Given the description of an element on the screen output the (x, y) to click on. 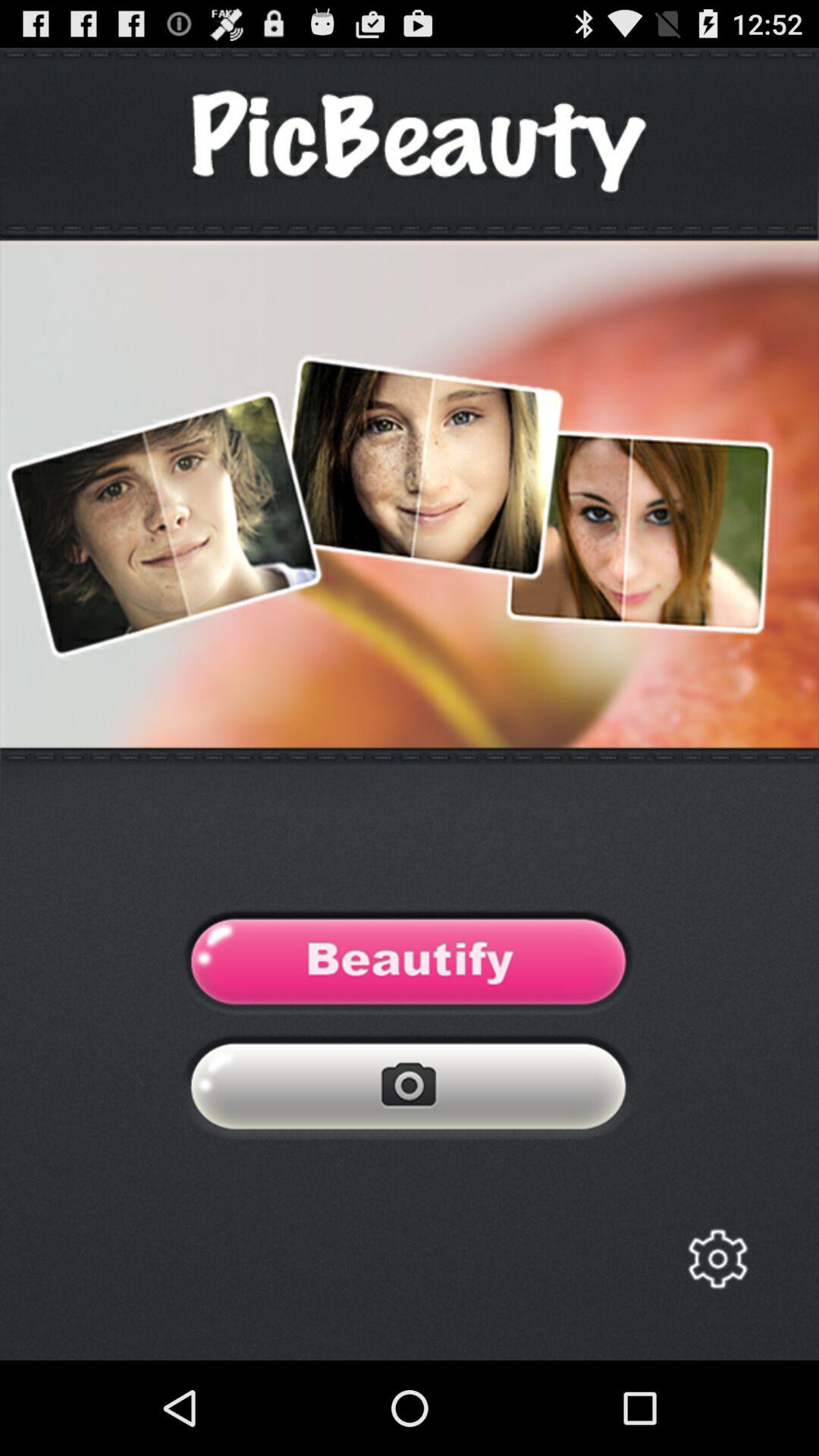
go to setting (717, 1258)
